Given the description of an element on the screen output the (x, y) to click on. 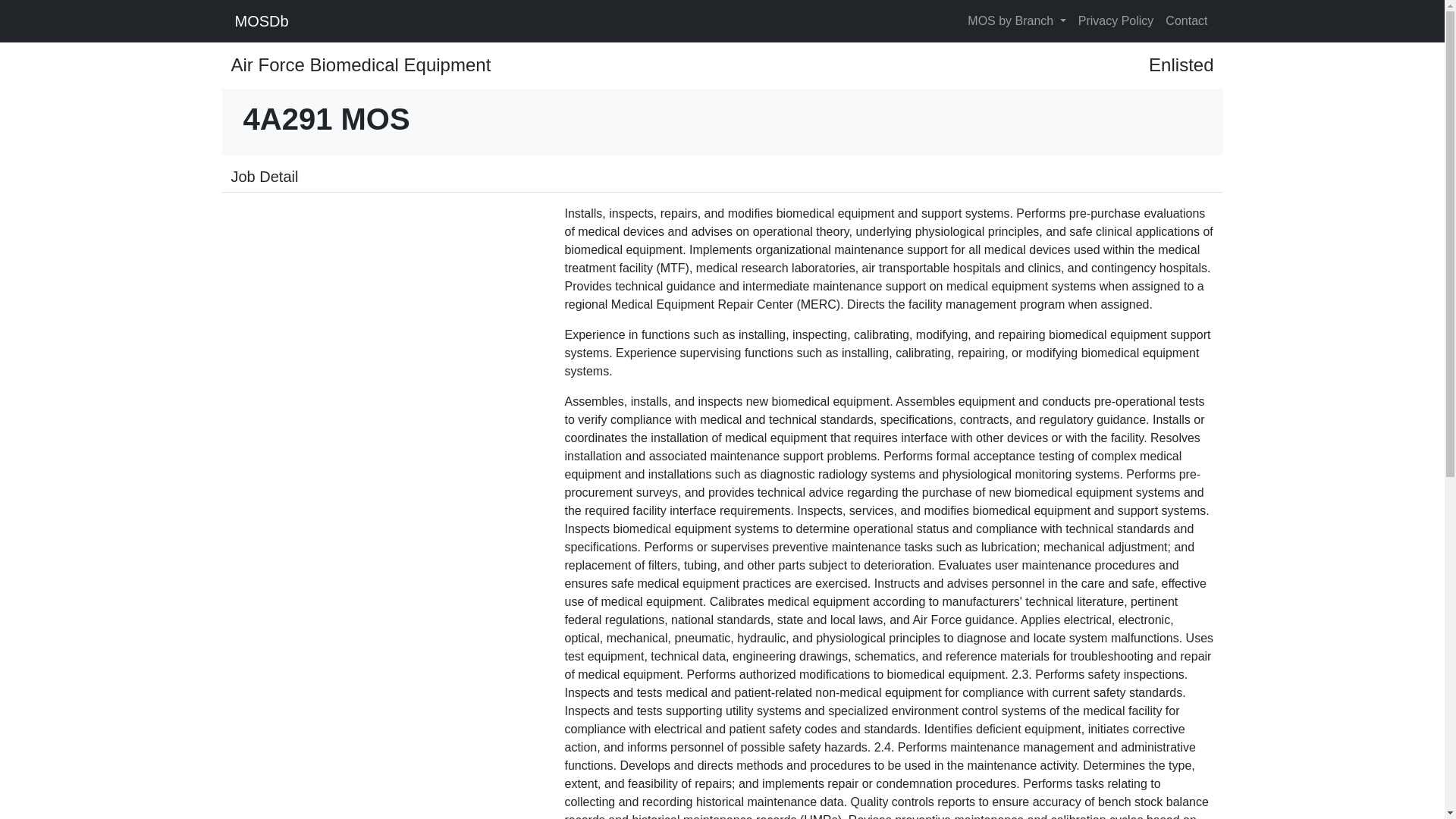
MOSDb (259, 20)
Contact (1185, 20)
MOS by Branch (1015, 20)
Privacy Policy (1115, 20)
